Given the description of an element on the screen output the (x, y) to click on. 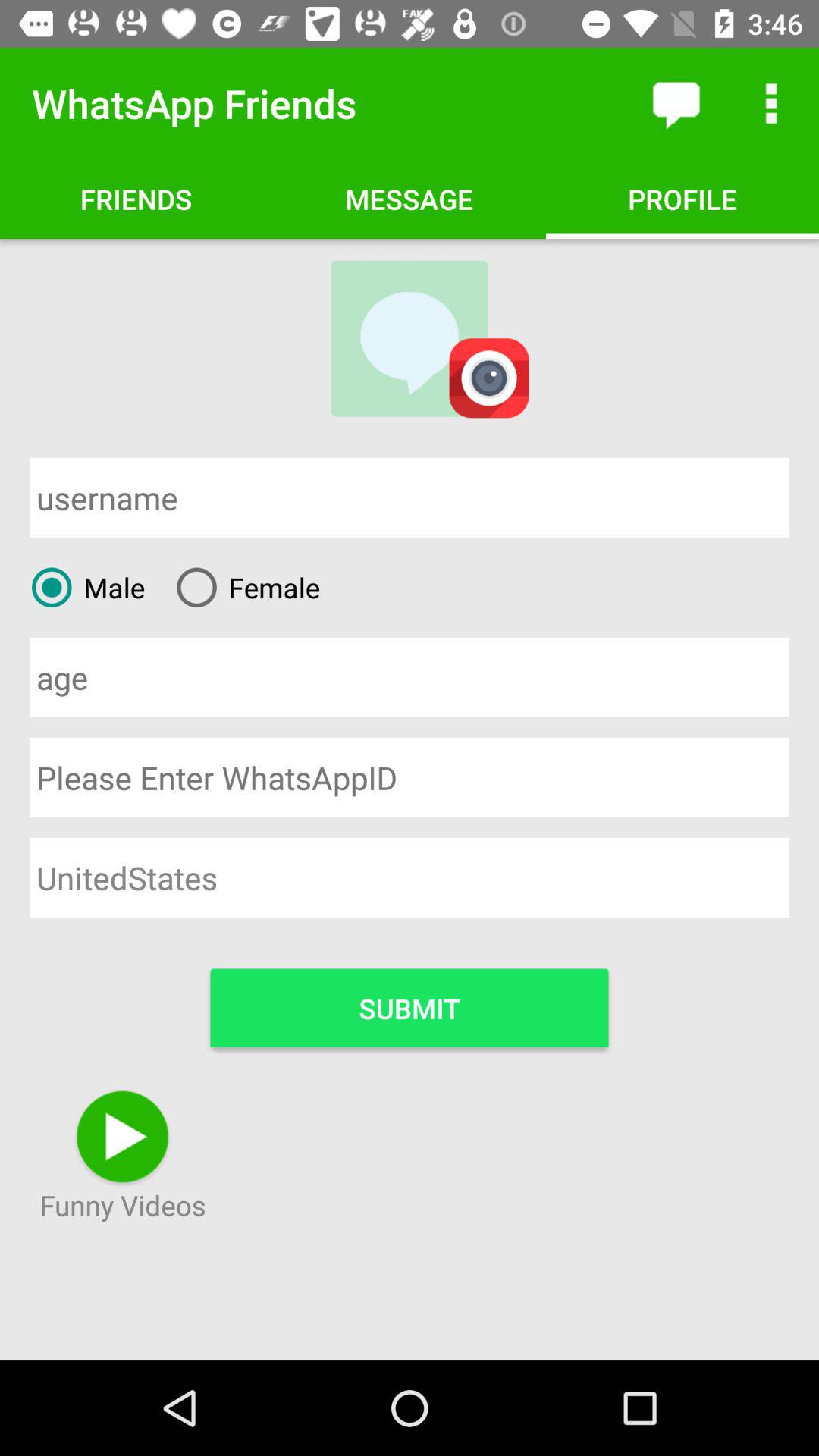
more info (771, 103)
